Given the description of an element on the screen output the (x, y) to click on. 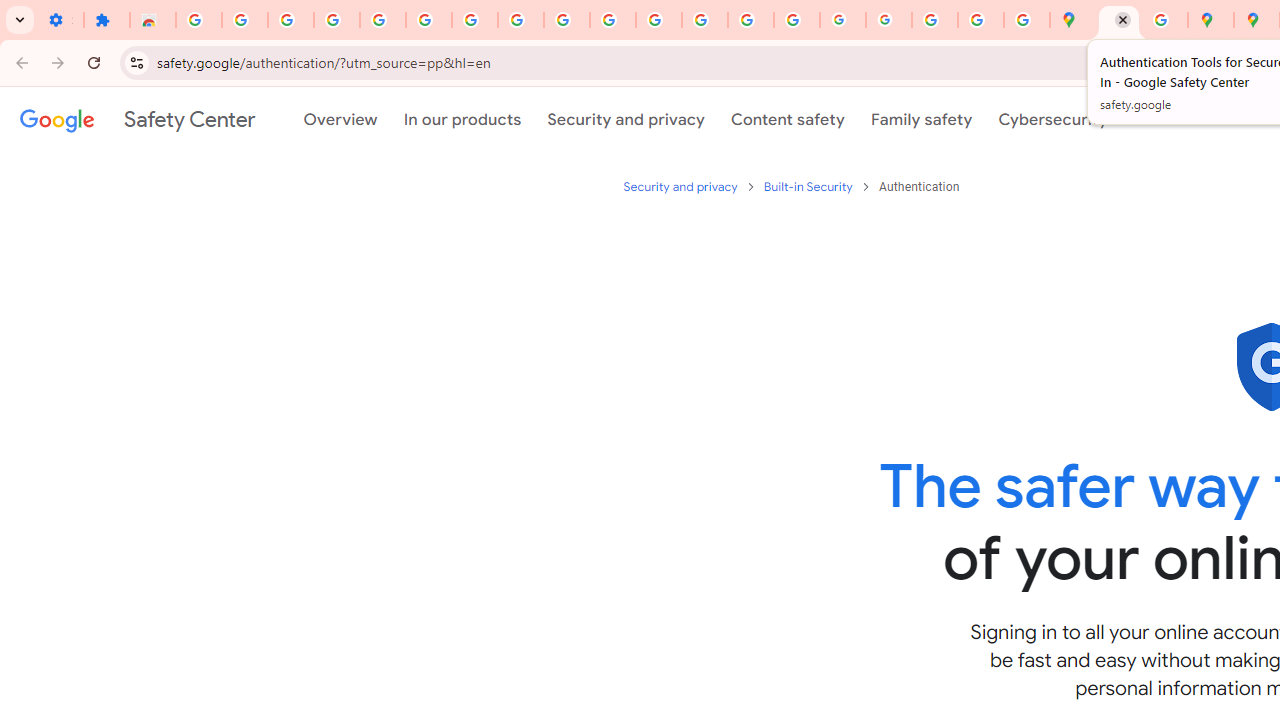
Sign in - Google Accounts (428, 20)
Security and privacy (626, 119)
YouTube (567, 20)
Settings - On startup (60, 20)
In our products (462, 119)
Cybersecurity (1053, 119)
Security and privacy  (682, 186)
